Given the description of an element on the screen output the (x, y) to click on. 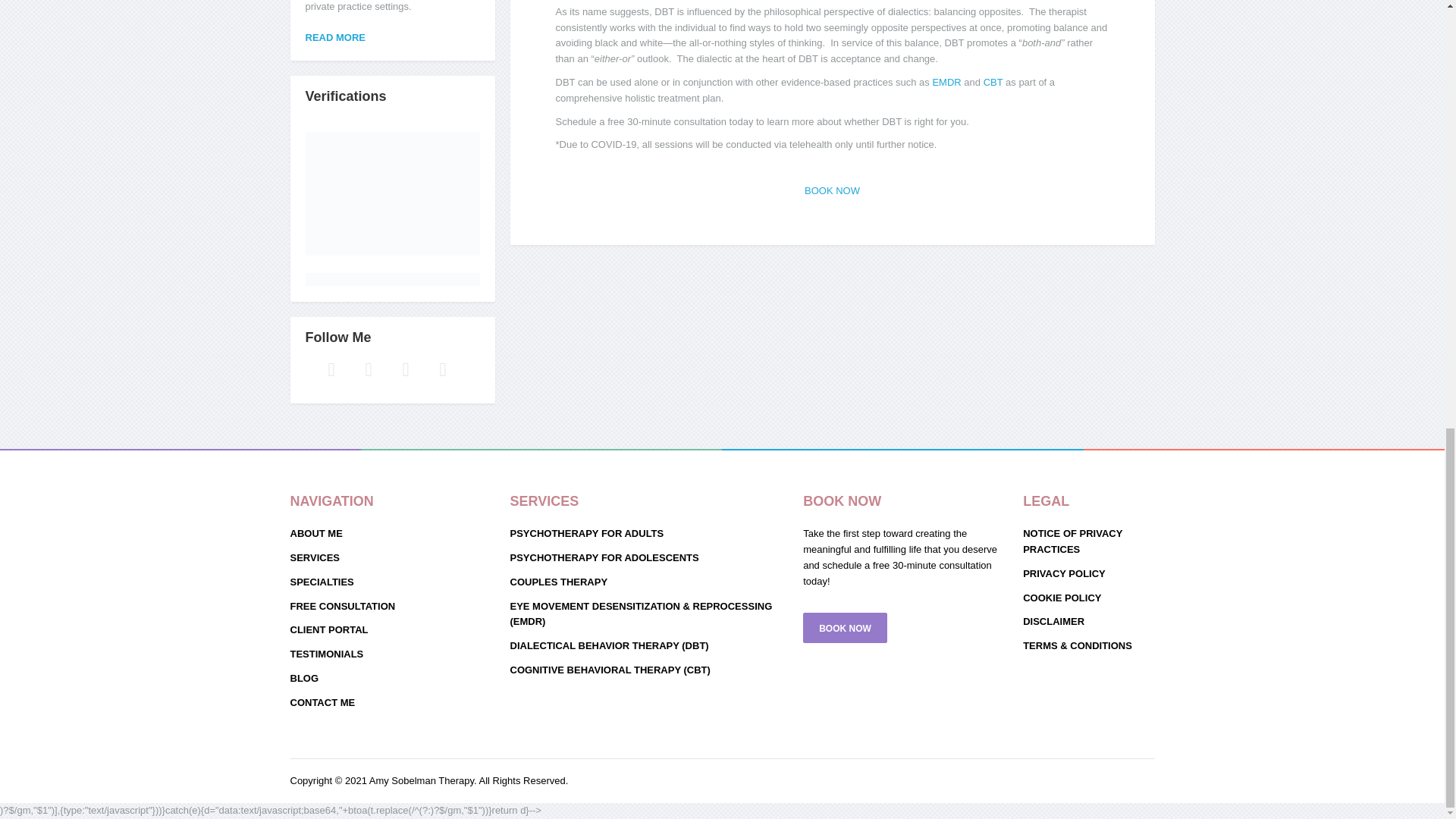
ABOUT ME (392, 535)
CBT (993, 81)
CLIENT PORTAL (392, 629)
yelp (405, 368)
Instagram (405, 368)
FREE CONSULTATION (392, 607)
SERVICES (392, 557)
BOOK NOW (832, 190)
EMDR (945, 81)
facebook (330, 368)
